Given the description of an element on the screen output the (x, y) to click on. 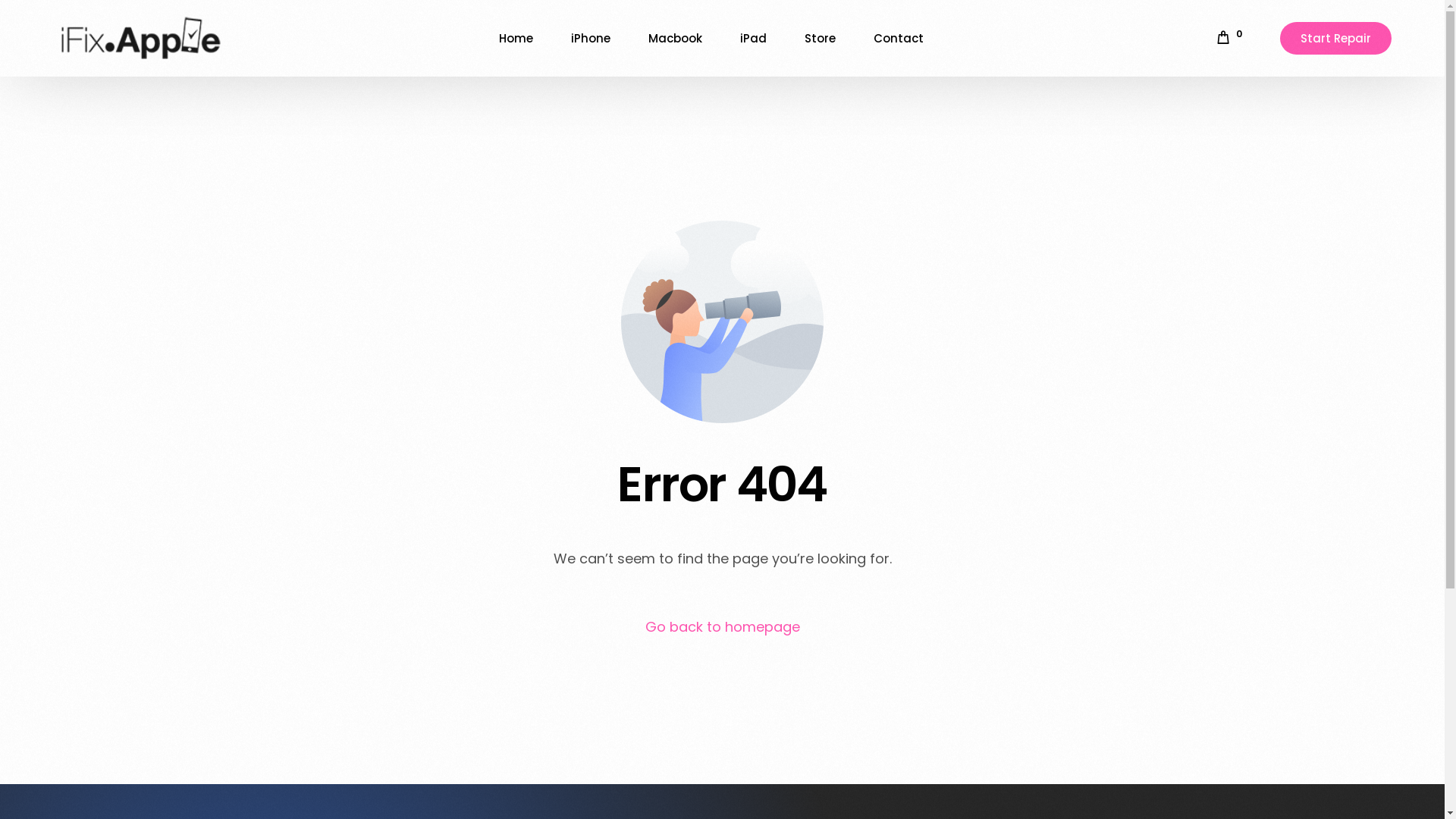
Go back to homepage Element type: text (721, 627)
Contact Element type: text (898, 38)
iPhone Element type: text (590, 38)
Home Element type: text (516, 38)
iPad Element type: text (753, 38)
Store Element type: text (819, 38)
Start Repair Element type: text (1335, 37)
Macbook Element type: text (675, 38)
